Given the description of an element on the screen output the (x, y) to click on. 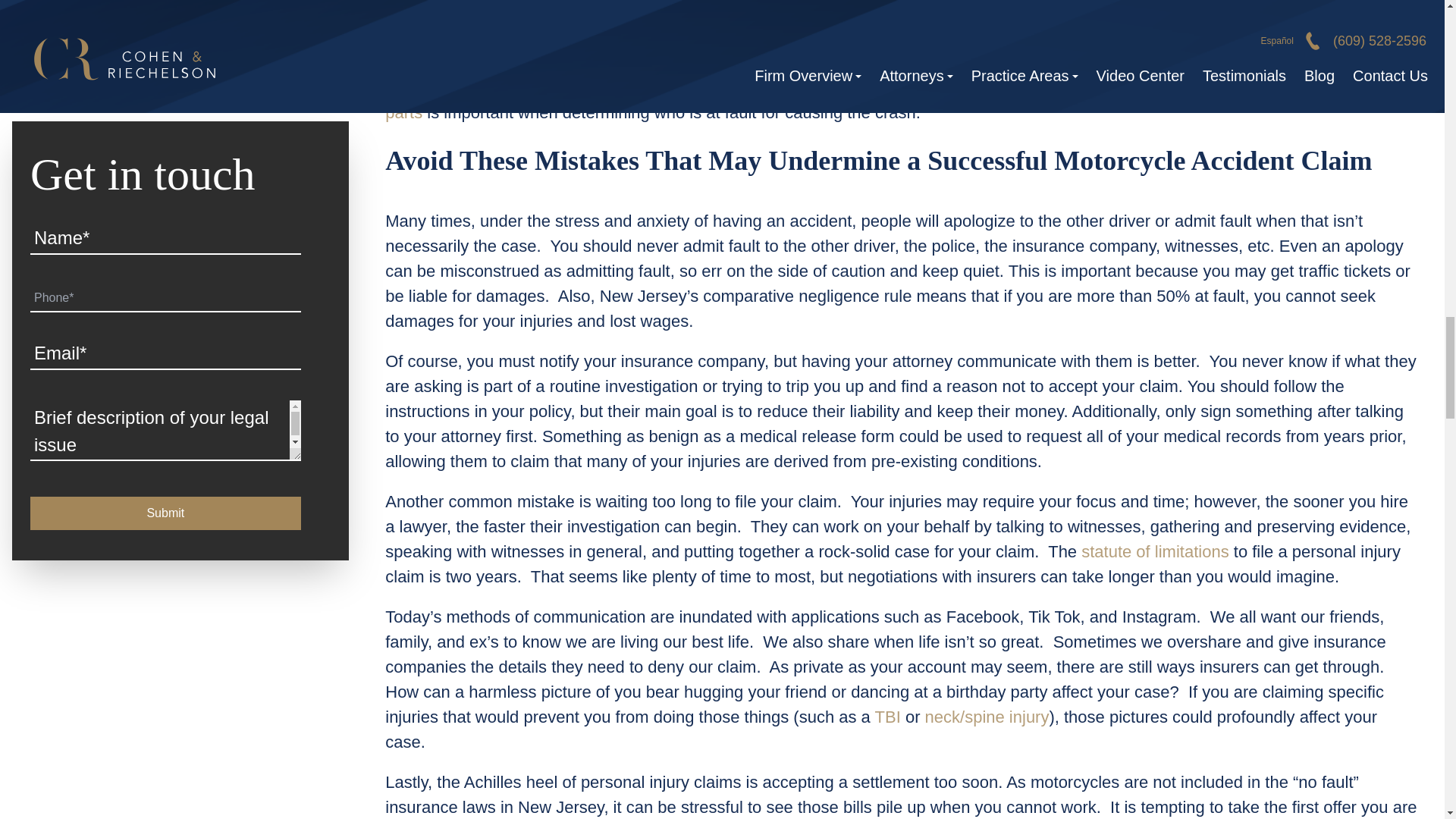
faulty motorcycle parts (881, 99)
statute of limitations (1154, 551)
TBI (890, 716)
